Given the description of an element on the screen output the (x, y) to click on. 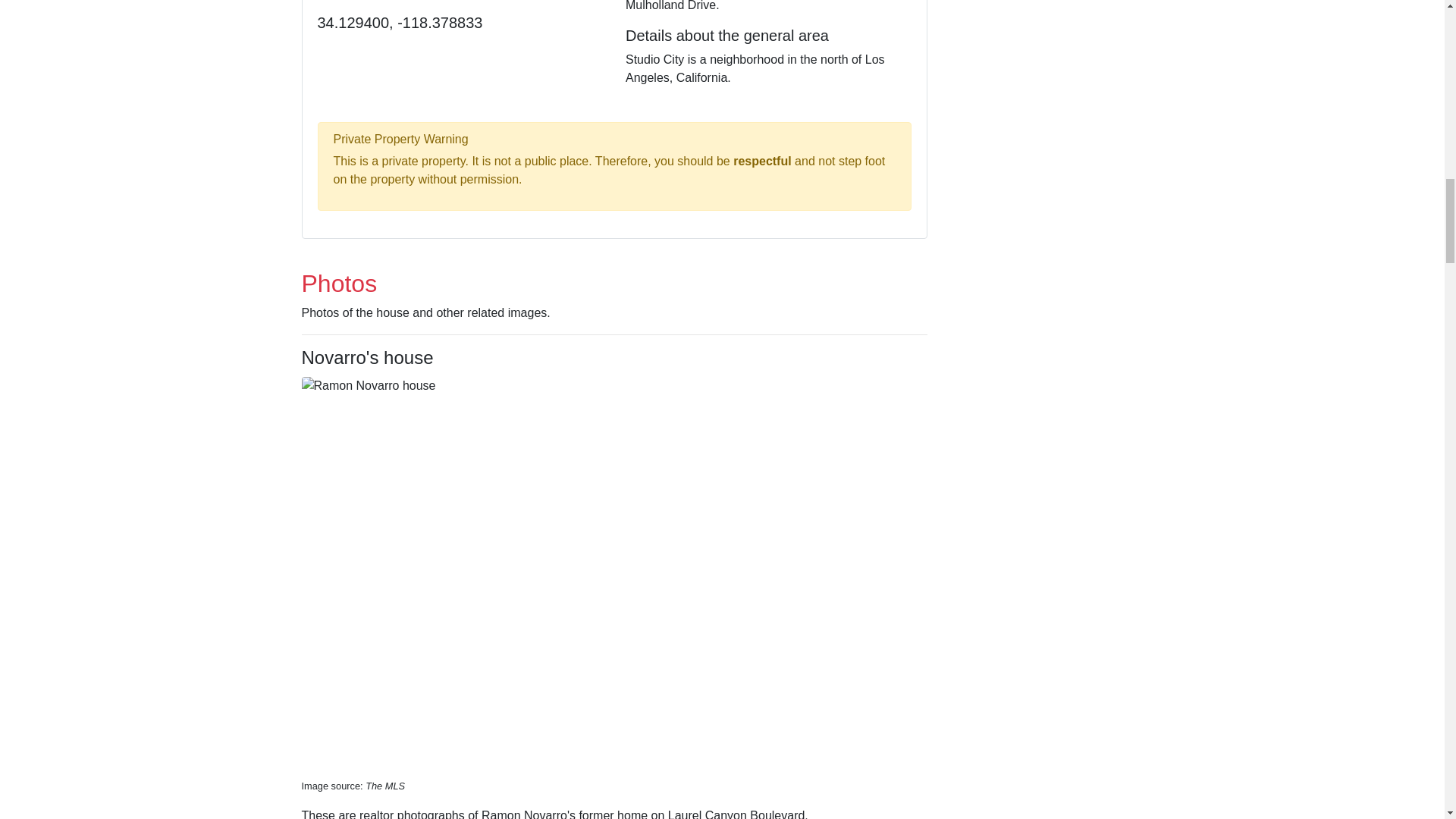
The MLS (384, 785)
